Given the description of an element on the screen output the (x, y) to click on. 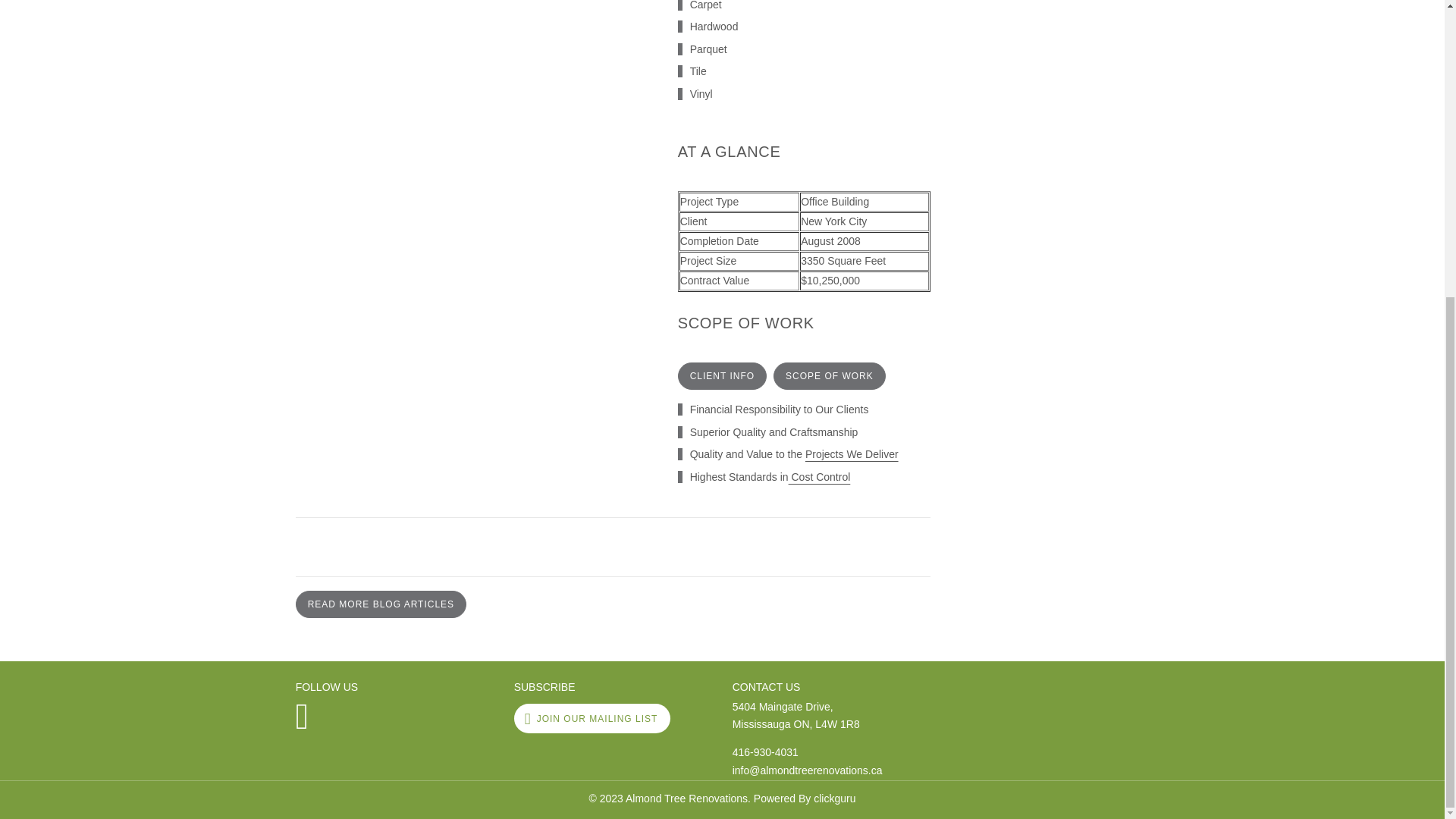
JOIN OUR MAILING LIST (592, 718)
CLIENT INFO (722, 375)
416-930-4031 (831, 721)
Cost Control (764, 752)
SCOPE OF WORK (819, 476)
READ MORE BLOG ARTICLES (829, 375)
Projects We Deliver (381, 604)
